Given the description of an element on the screen output the (x, y) to click on. 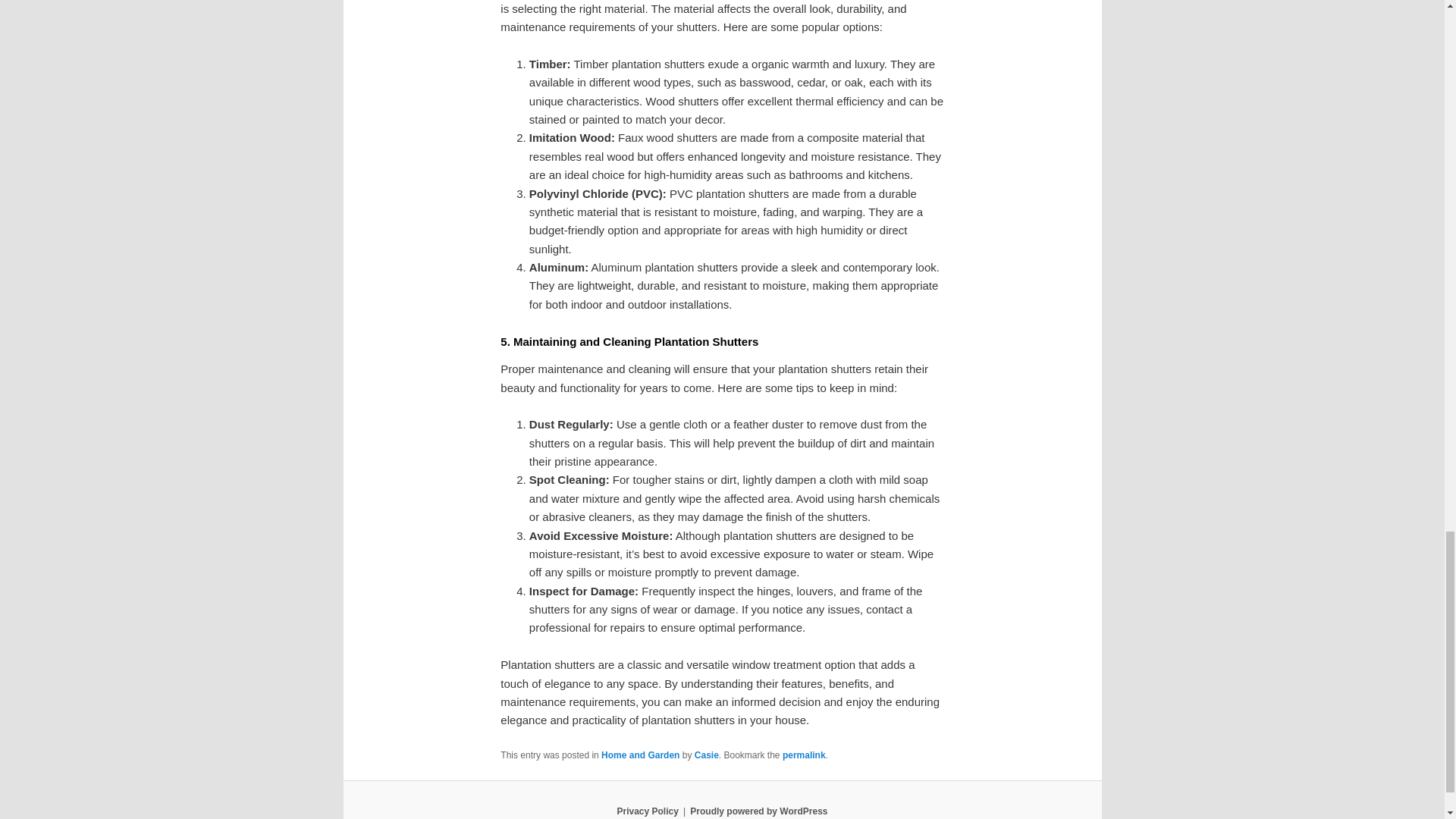
Proudly powered by WordPress (758, 810)
permalink (804, 755)
Semantic Personal Publishing Platform (758, 810)
Casie (706, 755)
Home and Garden (640, 755)
Privacy Policy (646, 810)
